Given the description of an element on the screen output the (x, y) to click on. 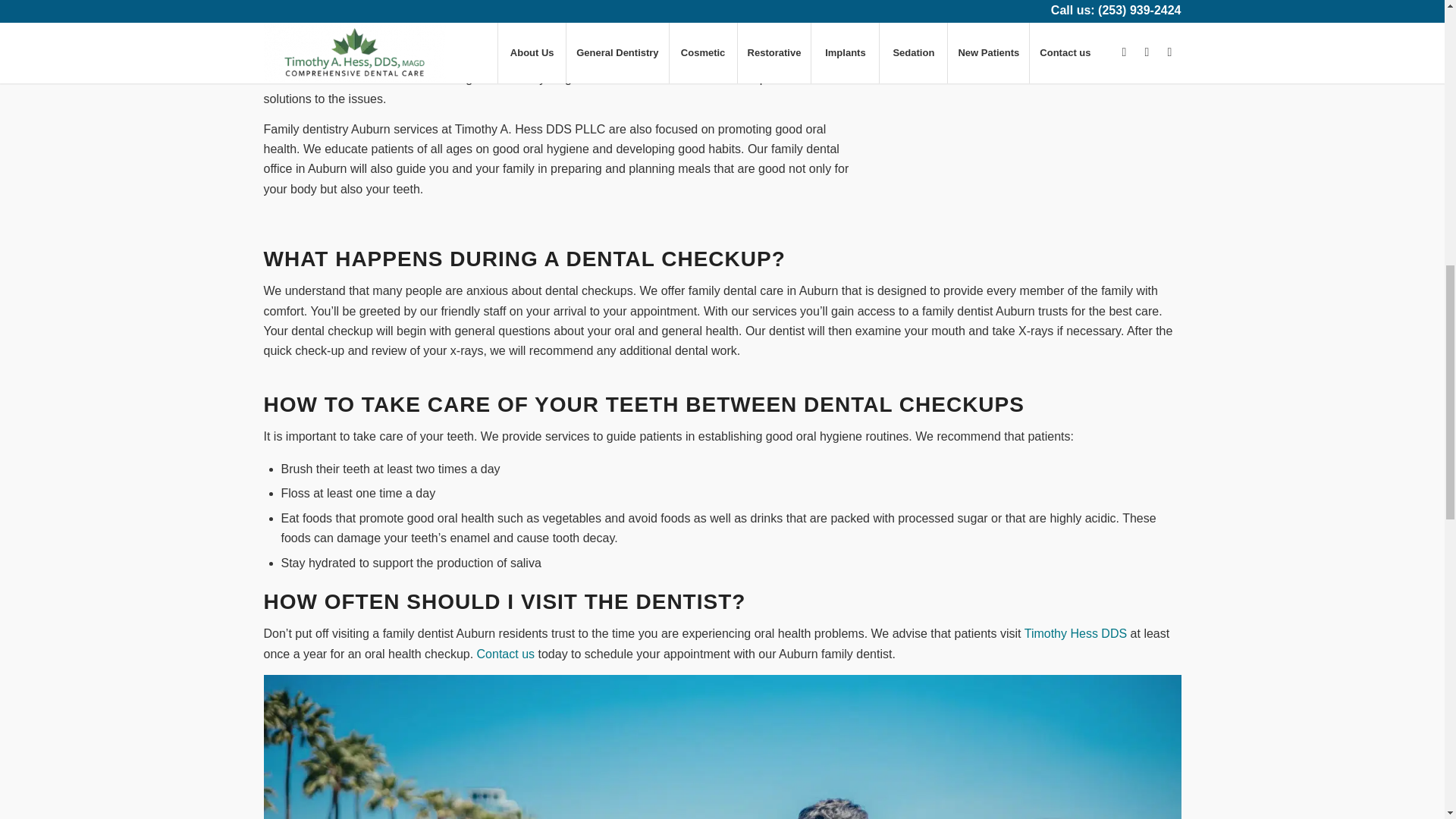
Family Dentistry (721, 746)
